Given the description of an element on the screen output the (x, y) to click on. 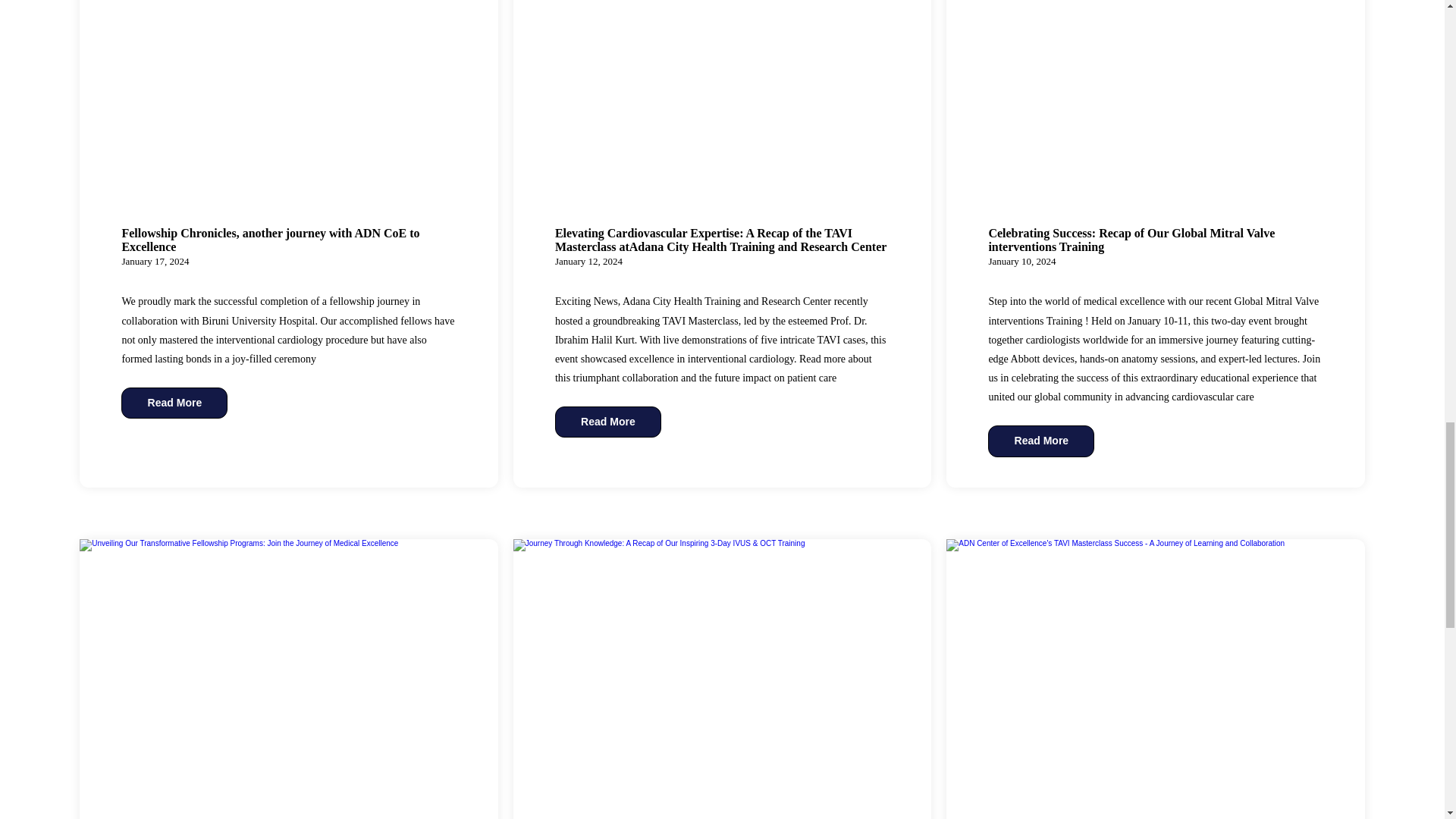
Read More (173, 403)
Read More (1041, 441)
Read More (607, 422)
